Given the description of an element on the screen output the (x, y) to click on. 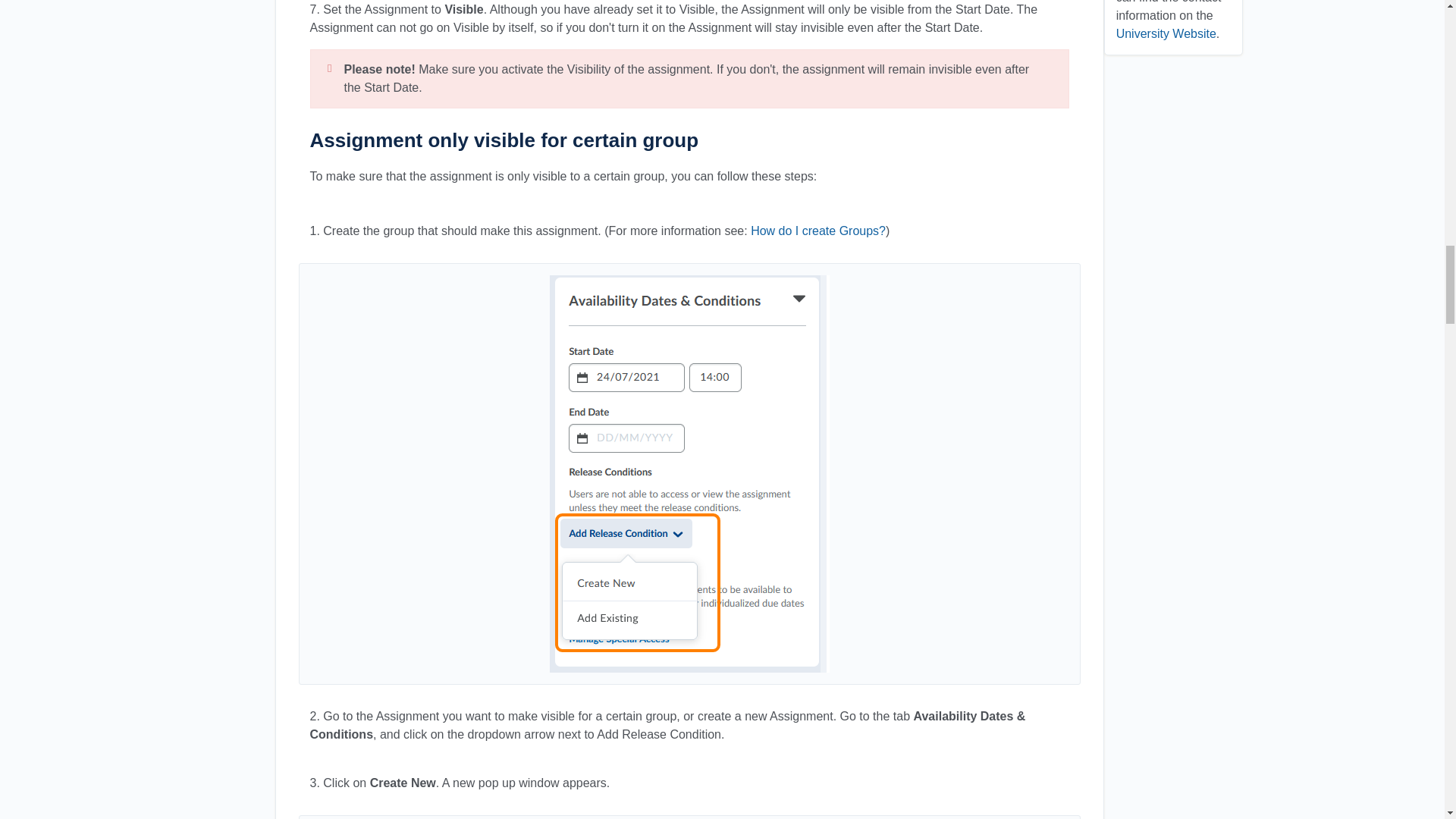
How do I create Groups? (818, 230)
